Given the description of an element on the screen output the (x, y) to click on. 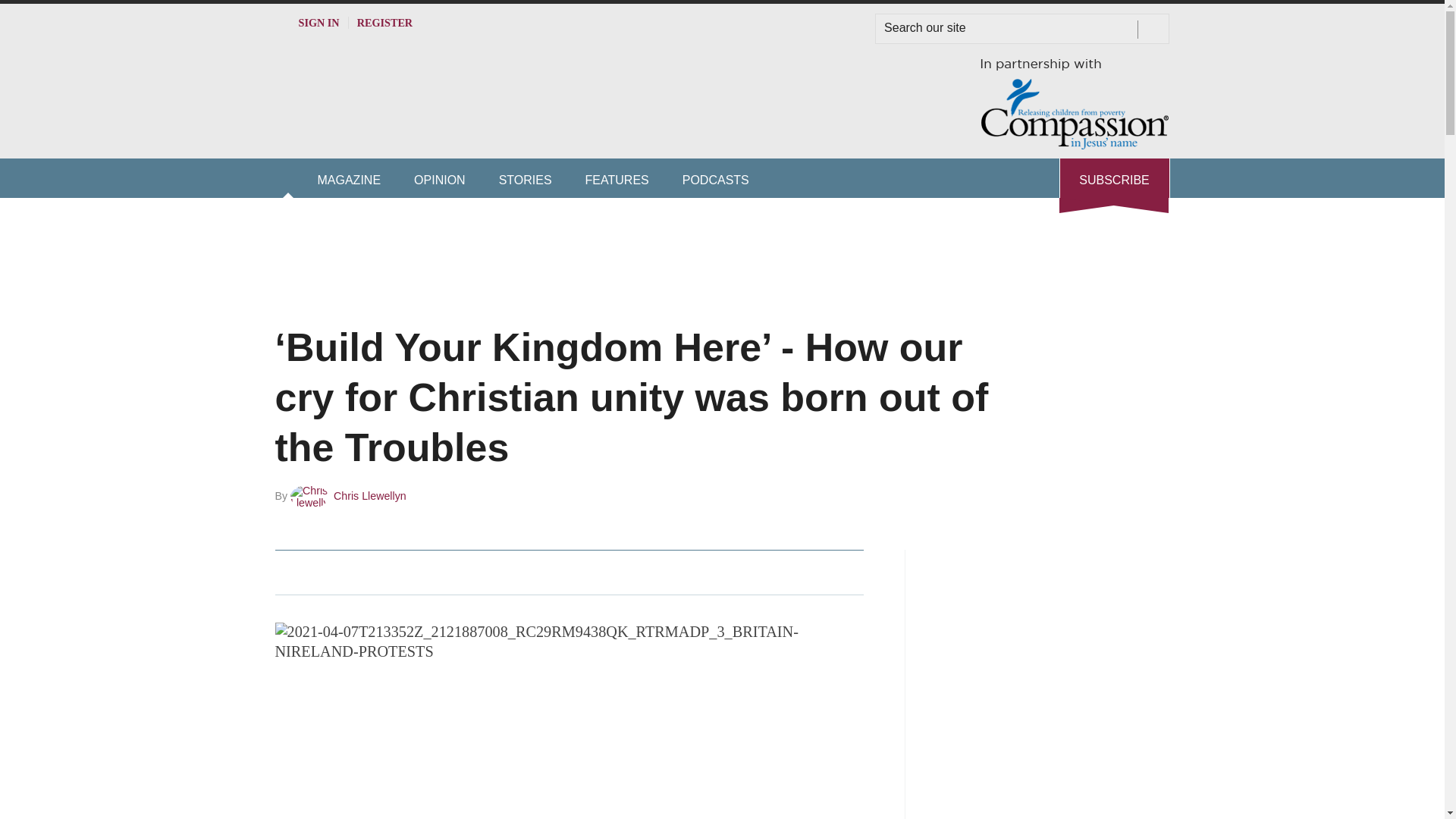
Email this article (386, 571)
Site name (494, 126)
Share this on Linked in (352, 571)
SEARCH (1153, 28)
Share this on Facebook (288, 571)
Share this on Twitter (320, 571)
SIGN IN (307, 22)
REGISTER (384, 22)
